Given the description of an element on the screen output the (x, y) to click on. 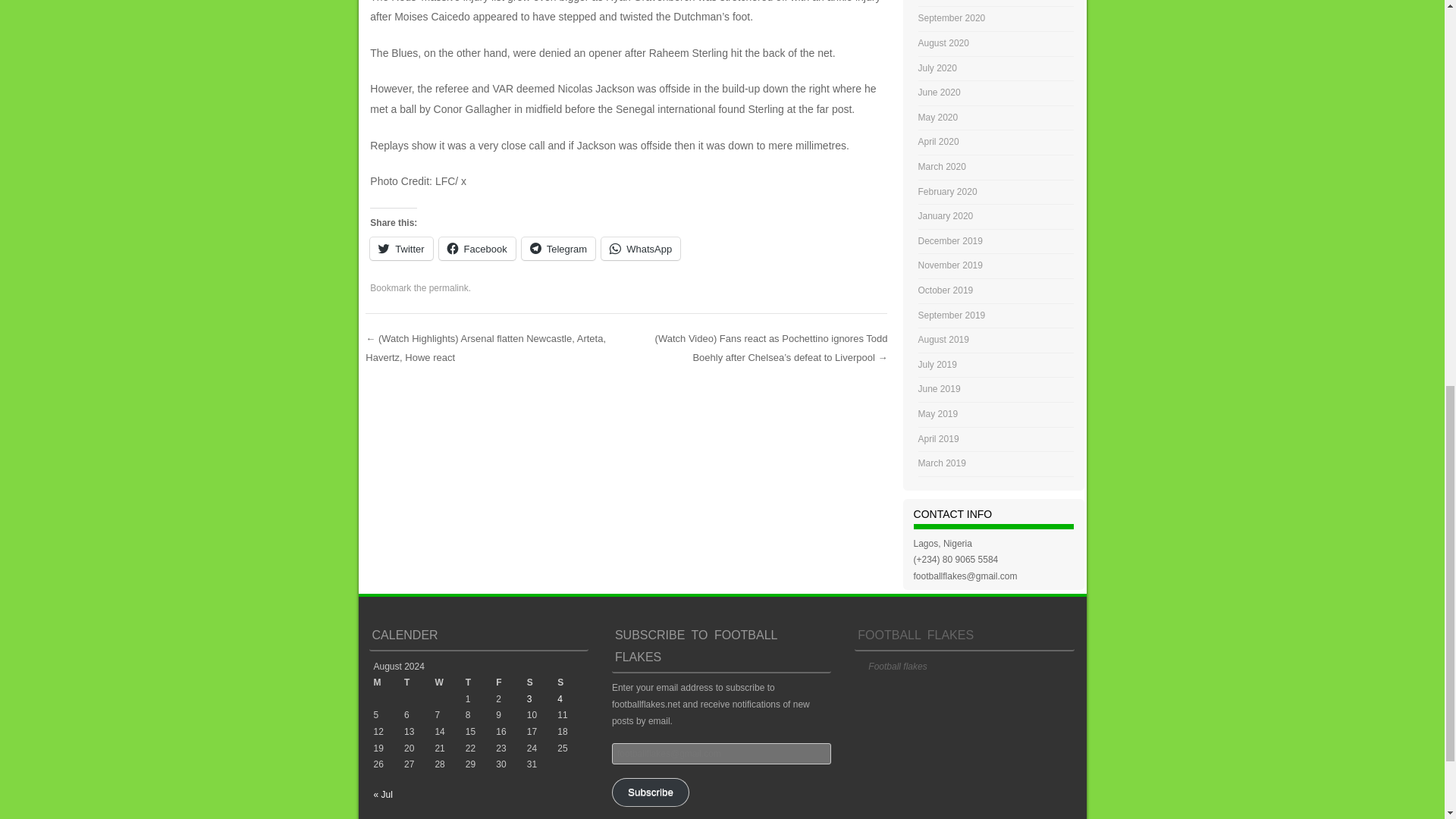
WhatsApp (640, 248)
Friday (510, 682)
Click to share on Facebook (477, 248)
Monday (387, 682)
Telegram (558, 248)
Click to share on Telegram (558, 248)
Click to share on WhatsApp (640, 248)
Thursday (480, 682)
Tuesday (418, 682)
Click to share on Twitter (400, 248)
